Given the description of an element on the screen output the (x, y) to click on. 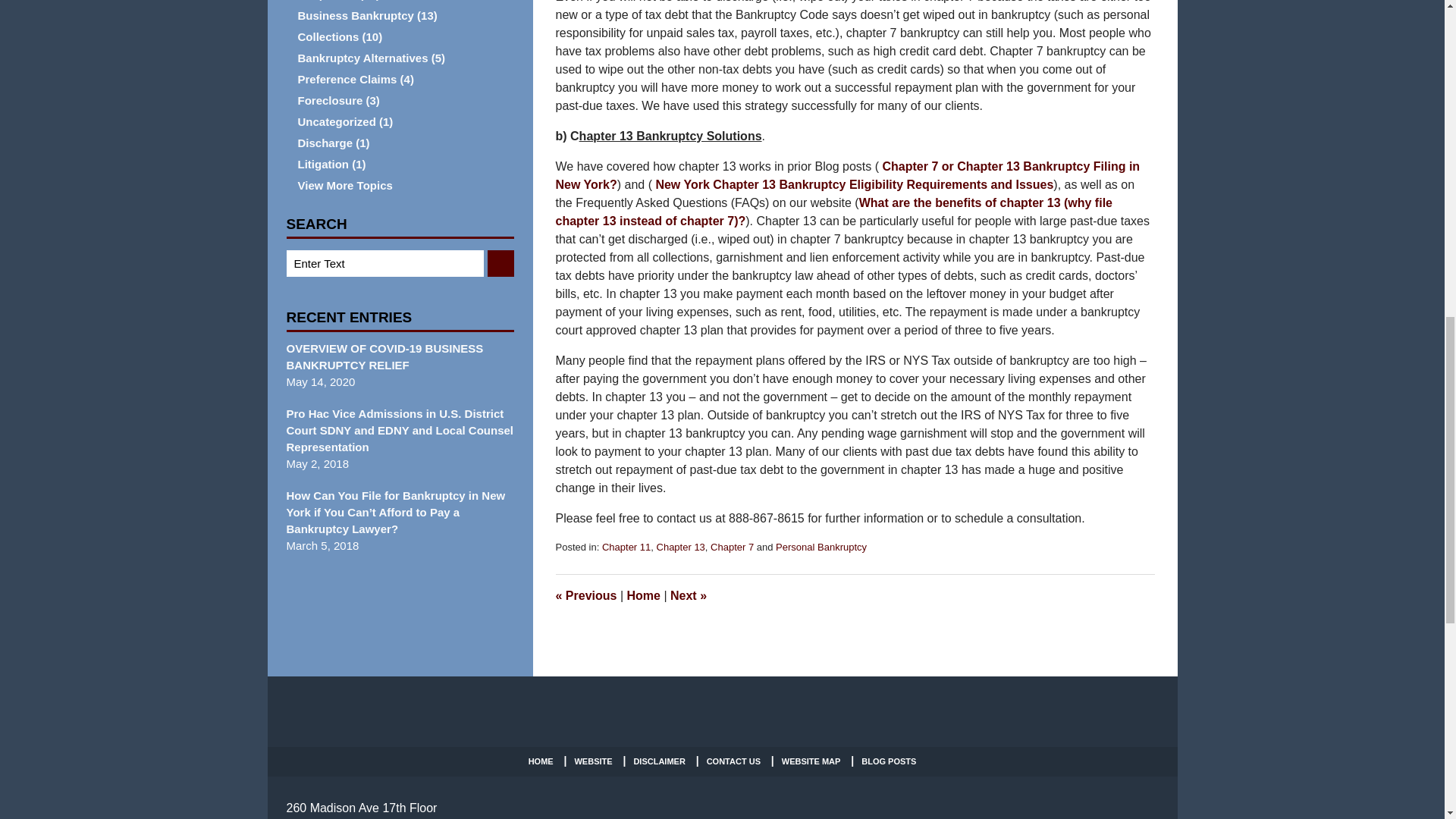
Chapter 13 (680, 546)
Wind-Down Outside of Bankruptcy in New York (584, 594)
Chapter 11 (626, 546)
View all posts in Personal Bankruptcy (821, 546)
View all posts in Chapter 11 (626, 546)
Personal Bankruptcy (821, 546)
Chapter 7 (732, 546)
Chapter 7 or Chapter 13 Bankruptcy Filing in New York? (847, 174)
View all posts in Chapter 7 (732, 546)
View all posts in Chapter 13 (680, 546)
Home (642, 594)
